Given the description of an element on the screen output the (x, y) to click on. 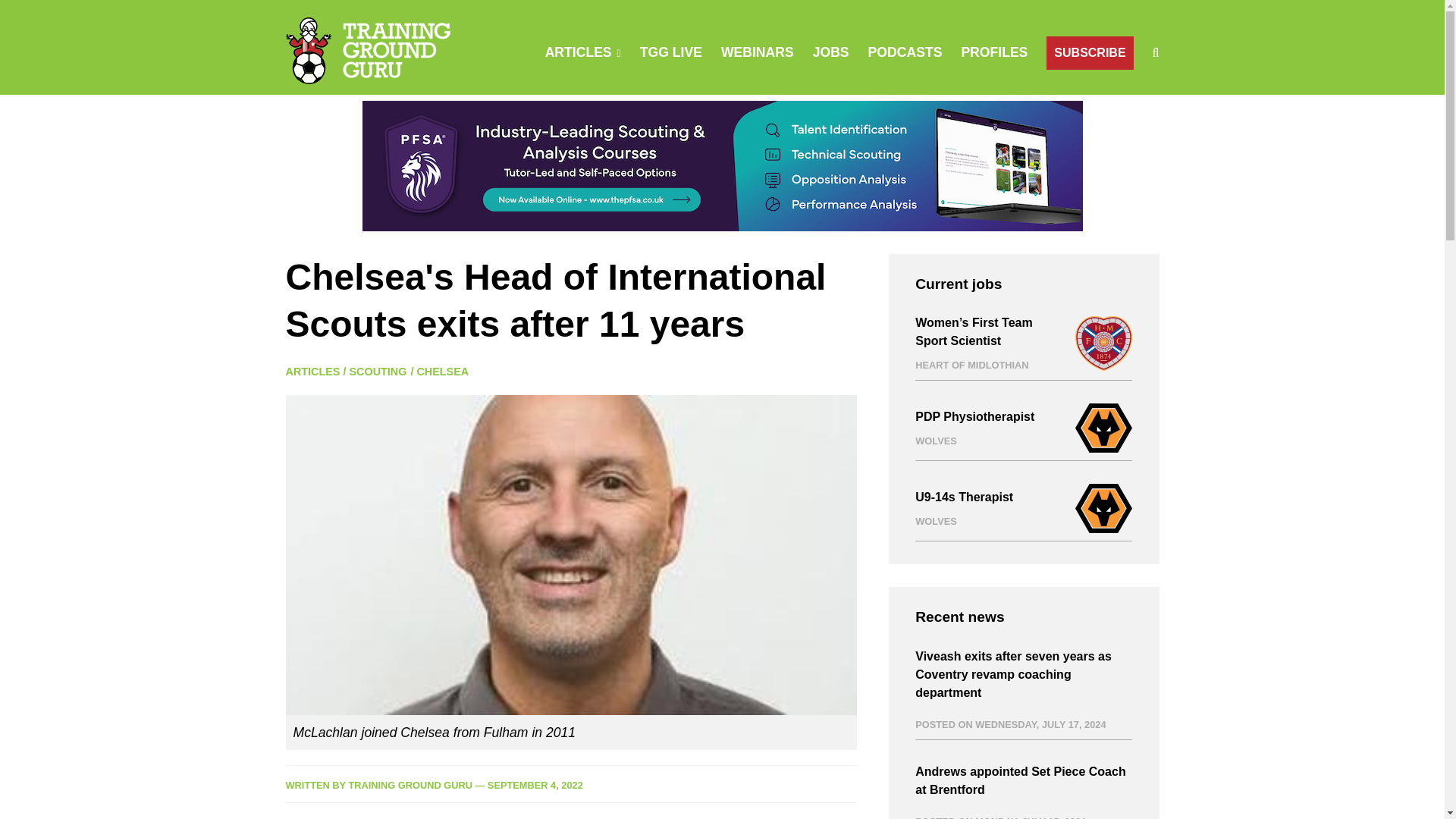
Profiles (993, 52)
Webinars (756, 52)
CHELSEA (442, 371)
JOBS (830, 52)
PROFILES (993, 52)
Podcasts (904, 52)
Search (950, 123)
SCOUTING (377, 371)
ARTICLES (577, 52)
WEBINARS (756, 52)
Submit a job (830, 52)
TGG LIVE (670, 52)
PDP Physiotherapist (974, 427)
TGG Live 2024 (670, 52)
ARTICLES (312, 371)
